Given the description of an element on the screen output the (x, y) to click on. 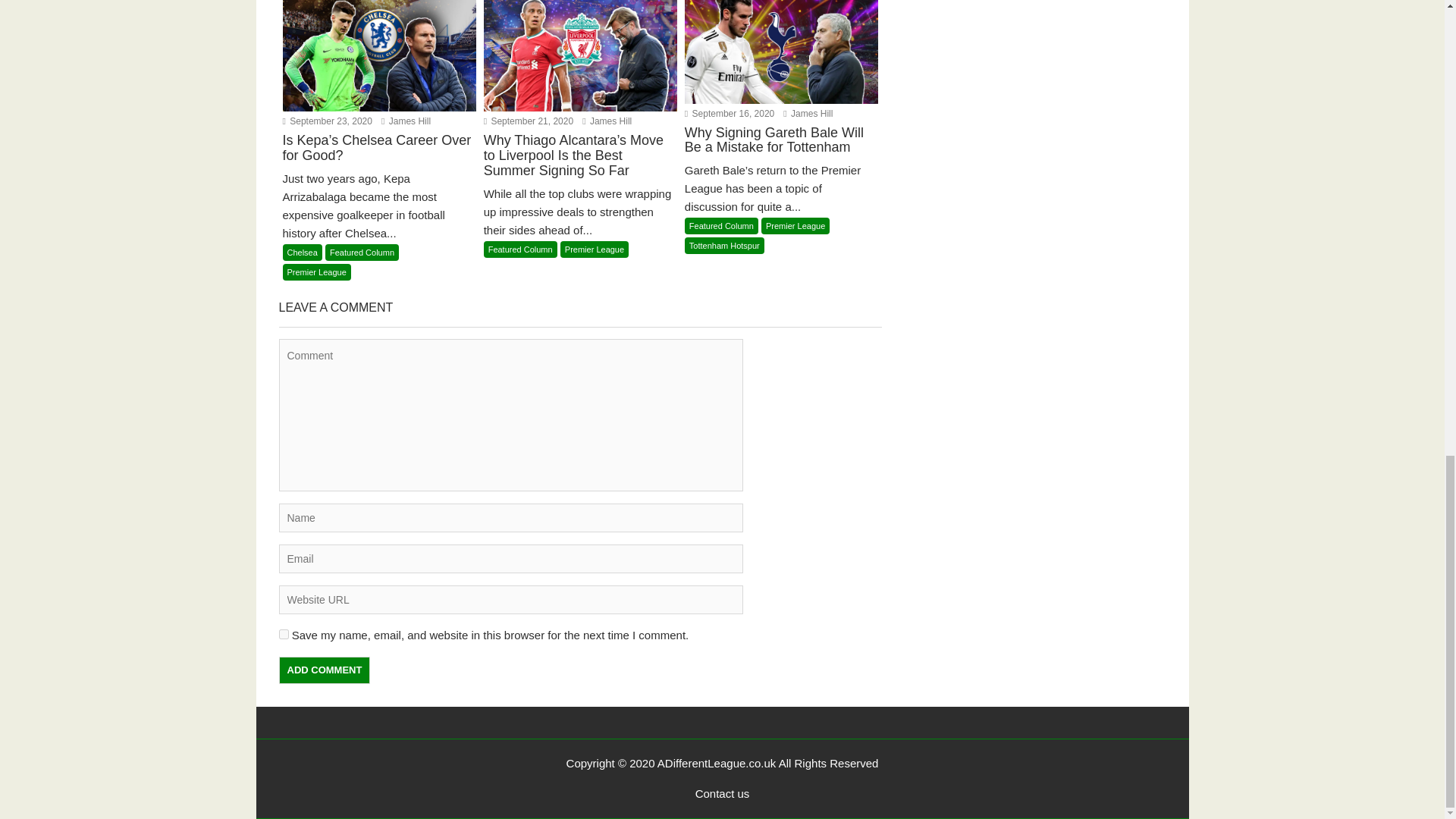
James Hill (405, 121)
James Hill (807, 113)
yes (283, 634)
James Hill (606, 121)
September 23, 2020 (326, 121)
James Hill (606, 121)
Add Comment (325, 669)
James Hill (405, 121)
Featured Column (361, 252)
Premier League (594, 248)
Premier League (316, 271)
September 21, 2020 (528, 121)
Chelsea (301, 252)
Featured Column (520, 248)
